Given the description of an element on the screen output the (x, y) to click on. 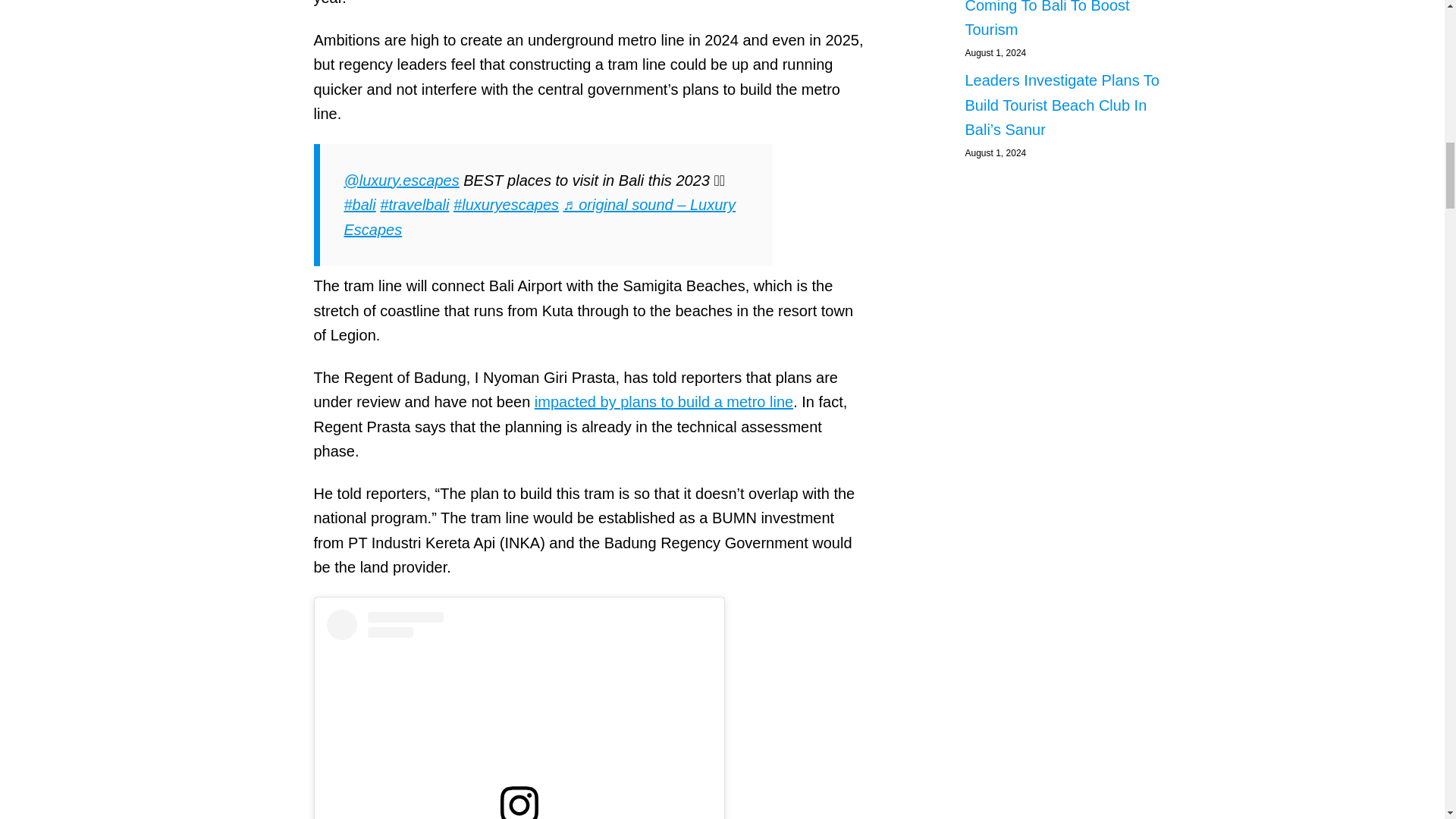
bali (359, 204)
View this post on Instagram (518, 714)
impacted by plans to build a metro line (663, 401)
